Given the description of an element on the screen output the (x, y) to click on. 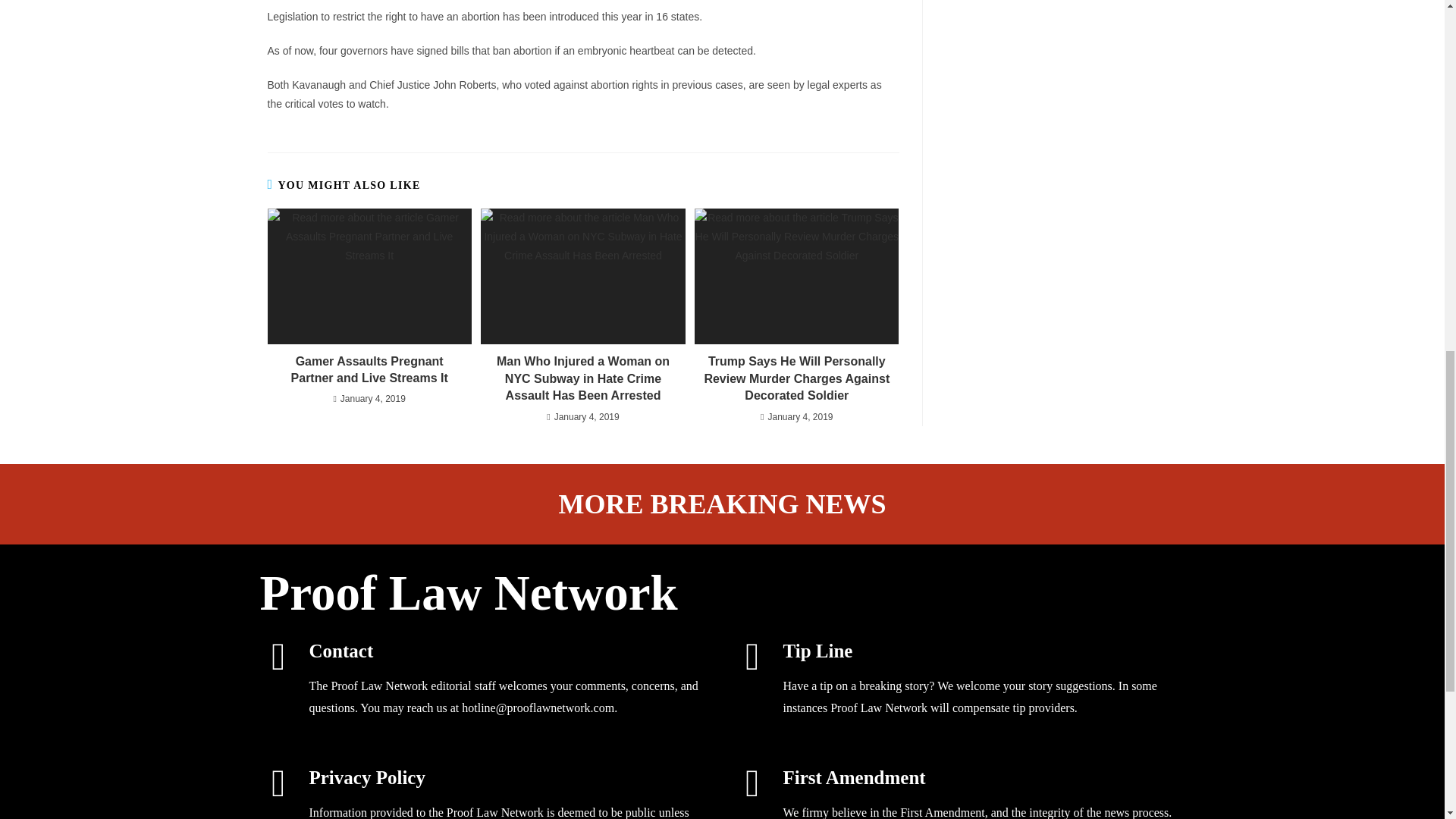
Gamer Assaults Pregnant Partner and Live Streams It (368, 369)
